Given the description of an element on the screen output the (x, y) to click on. 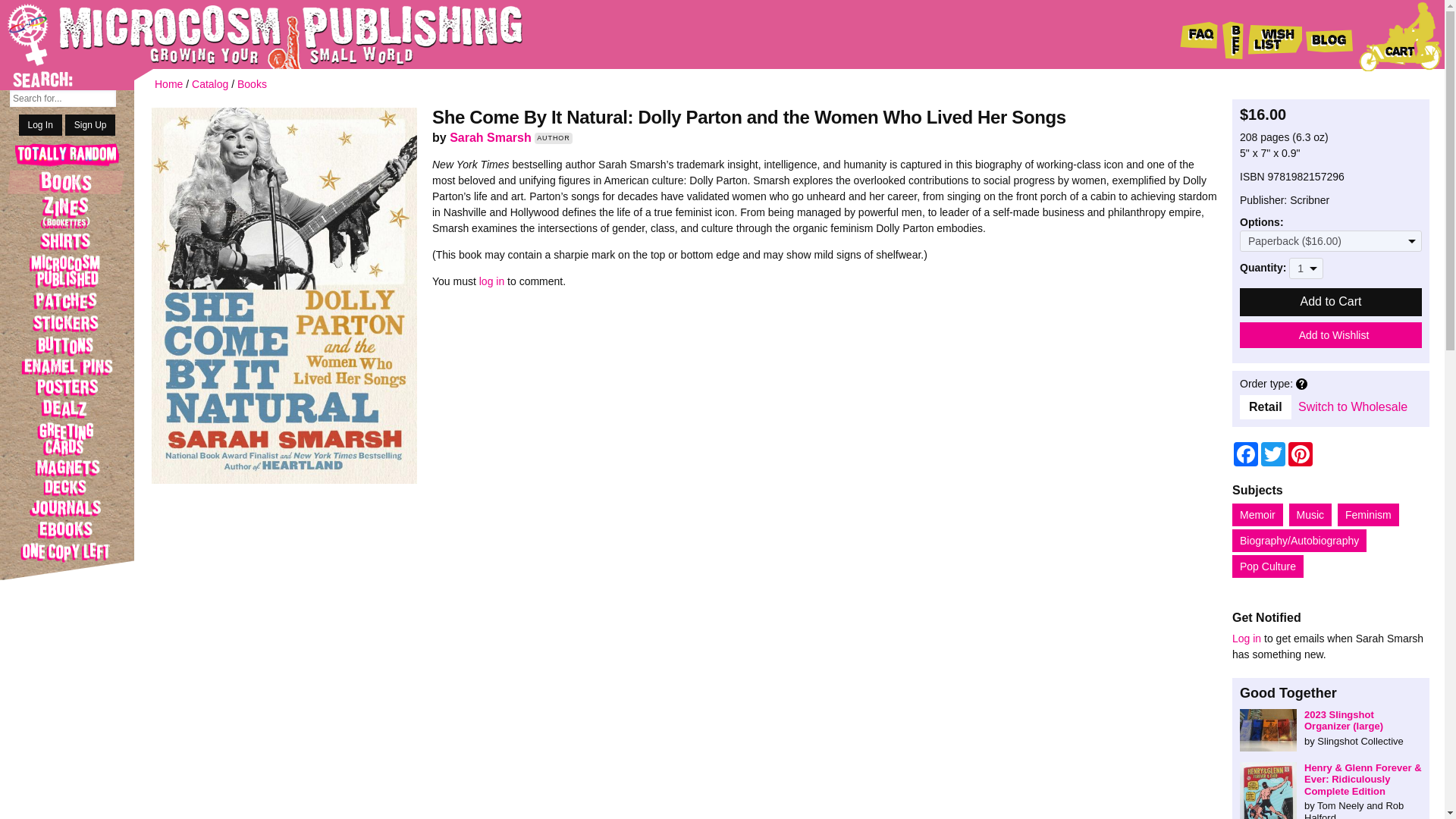
Add to Cart (1331, 302)
Jump to totally random title (66, 156)
Sign Up (90, 124)
Log In (40, 124)
Add to Wishlist (1331, 335)
cart (1399, 36)
back to Microcosm Publishing homepage (242, 34)
Shirts (66, 241)
Books (66, 181)
Zines (66, 212)
